Given the description of an element on the screen output the (x, y) to click on. 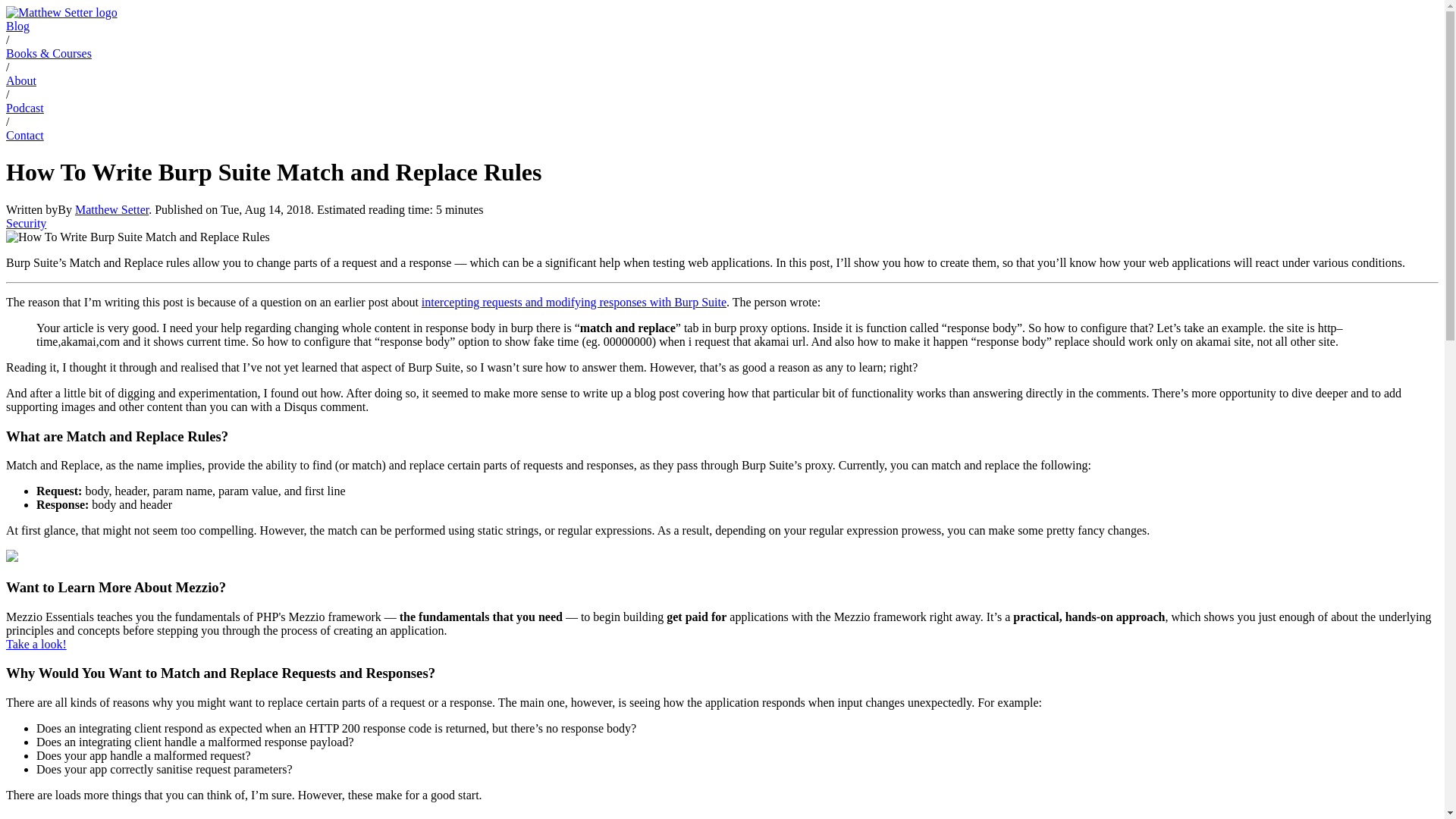
Security (25, 223)
Matthew Setter: Home (61, 11)
Matthew Setter (111, 209)
Contact (24, 134)
Podcast (24, 107)
Take a look! (35, 644)
Blog (17, 25)
About (20, 80)
